Given the description of an element on the screen output the (x, y) to click on. 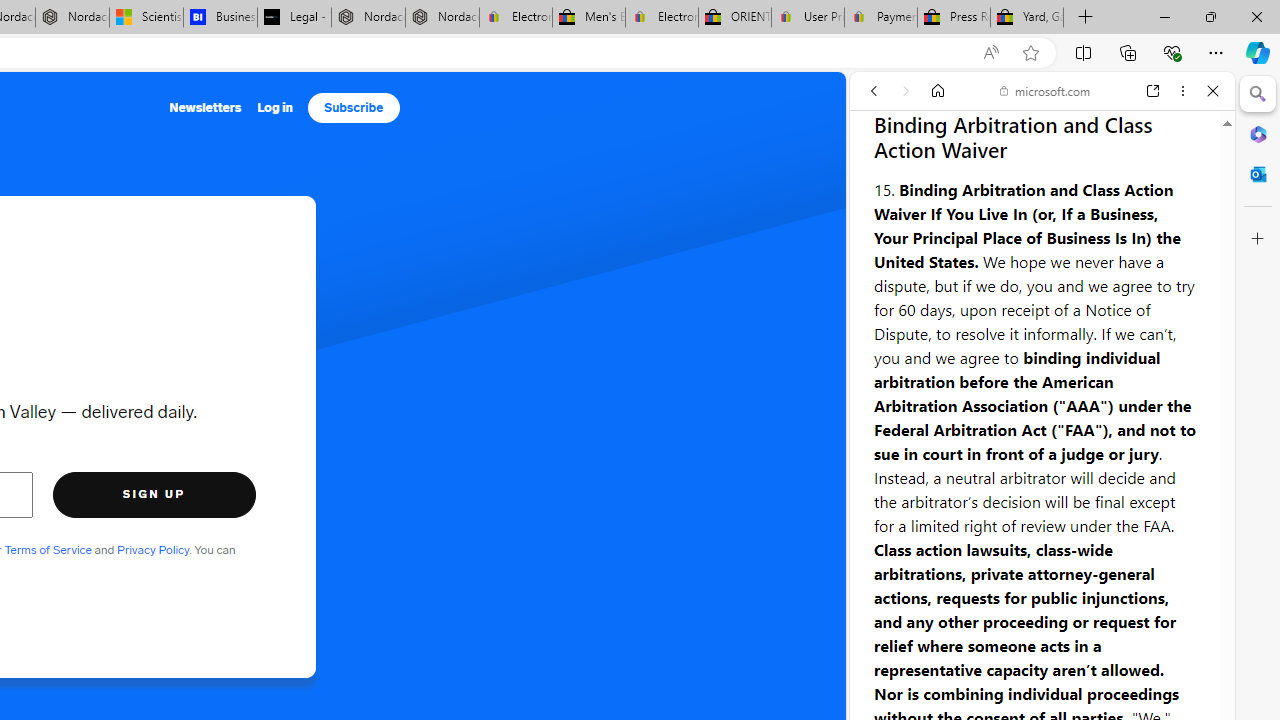
Log in (275, 107)
Privacy Policy (152, 549)
